Given the description of an element on the screen output the (x, y) to click on. 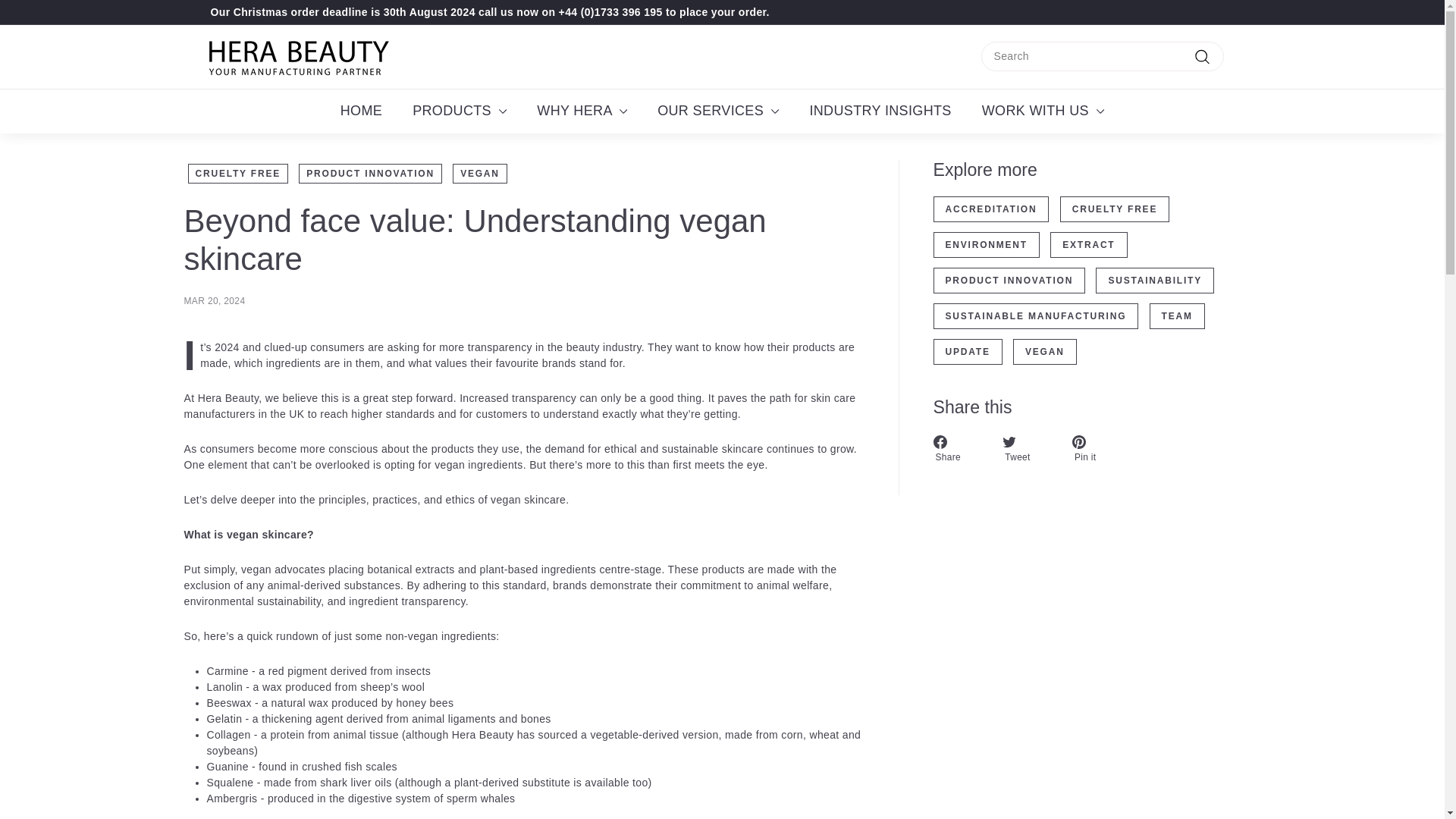
HOME (360, 110)
Share on Facebook (960, 449)
Pin on Pinterest (1097, 449)
twitter (1009, 441)
Tweet on Twitter (1030, 449)
